Given the description of an element on the screen output the (x, y) to click on. 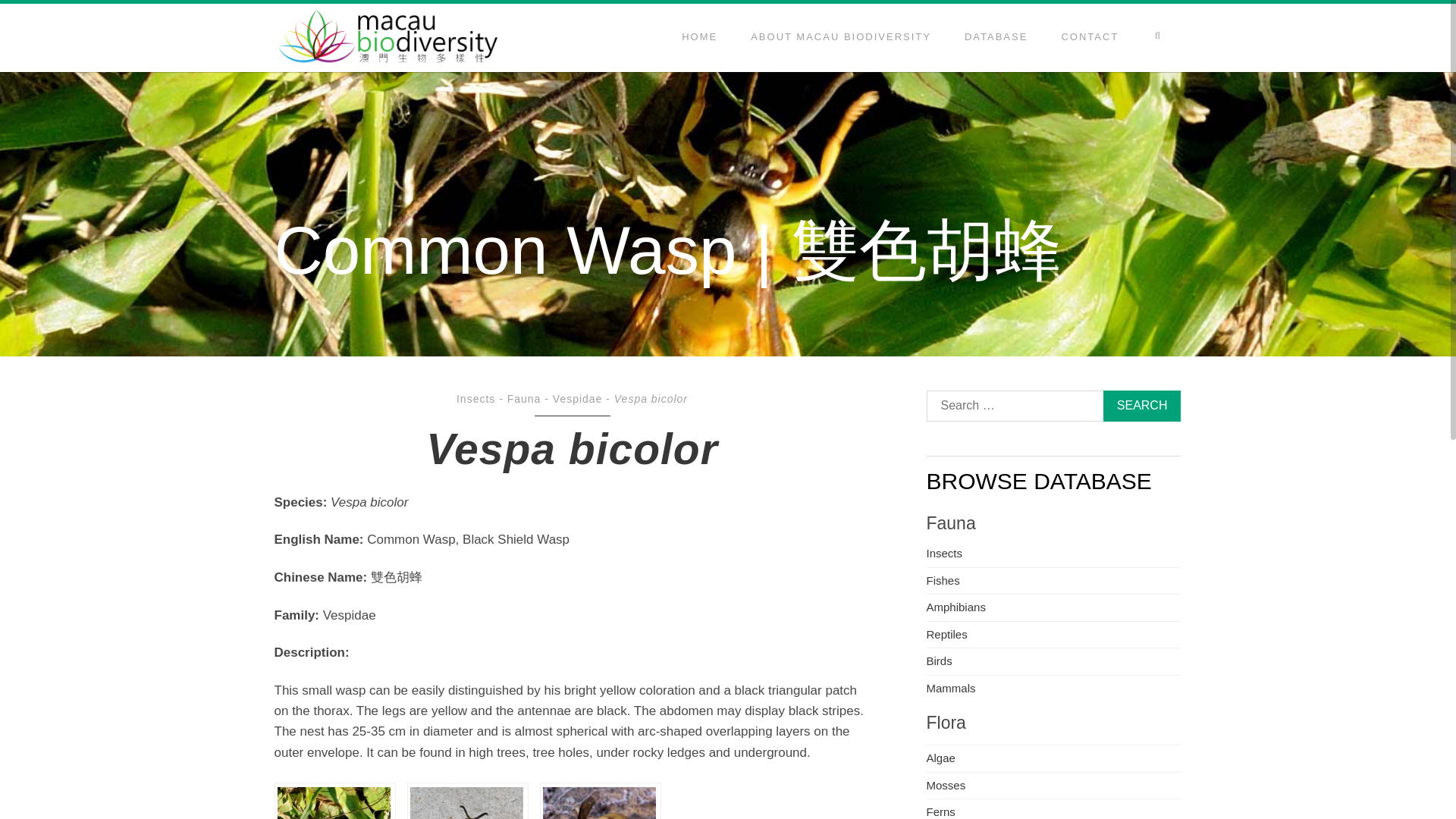
Fish (942, 580)
ABOUT MACAU BIODIVERSITY (840, 38)
Mammals (950, 687)
CONTACT (1089, 38)
Mosses (946, 784)
Algae (940, 757)
Algae (940, 757)
View Database of Fauna (523, 398)
Macau Biodiversity (388, 38)
Birds (939, 660)
DATABASE (995, 38)
Fauna (523, 398)
Insects (476, 398)
Insects (944, 553)
SEARCH (1141, 405)
